Given the description of an element on the screen output the (x, y) to click on. 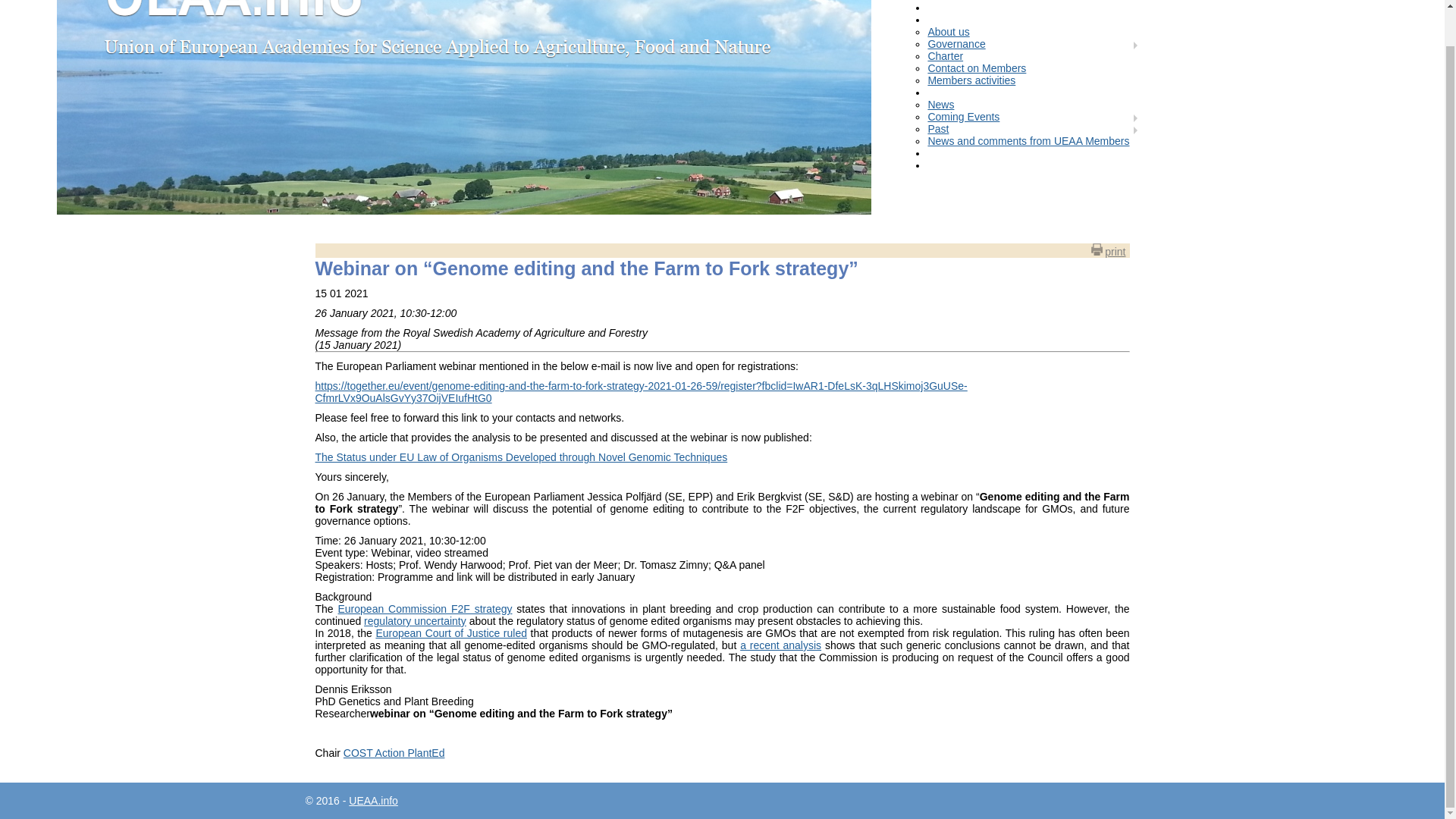
regulatory uncertainty (414, 621)
Contact (971, 165)
About UEAA (984, 19)
Contact on Members (976, 68)
Governance (956, 43)
Charter (944, 55)
Scientific News (989, 6)
Contact on Members (976, 68)
About UEAA (984, 19)
